Given the description of an element on the screen output the (x, y) to click on. 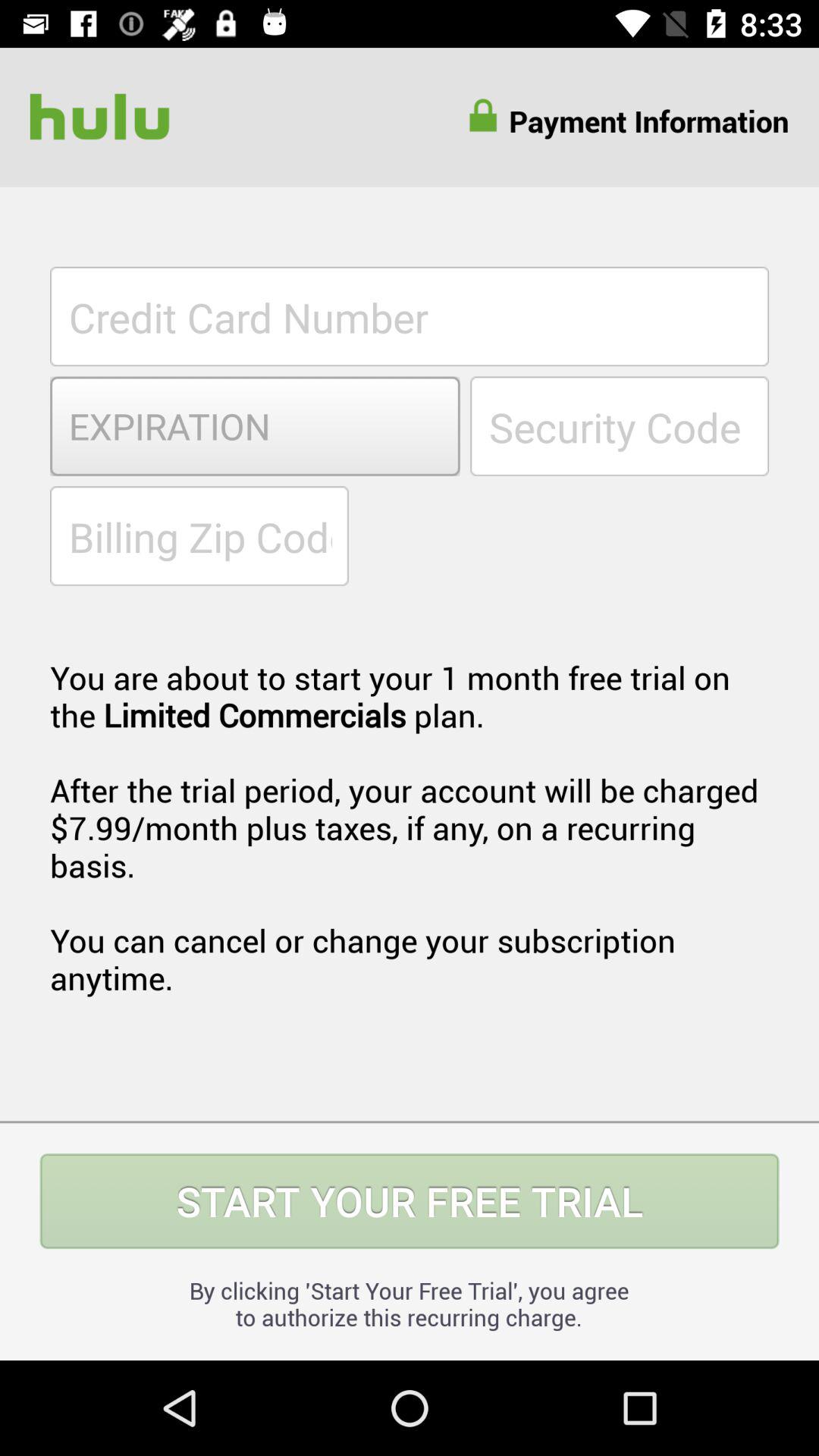
enter zip code (199, 535)
